Given the description of an element on the screen output the (x, y) to click on. 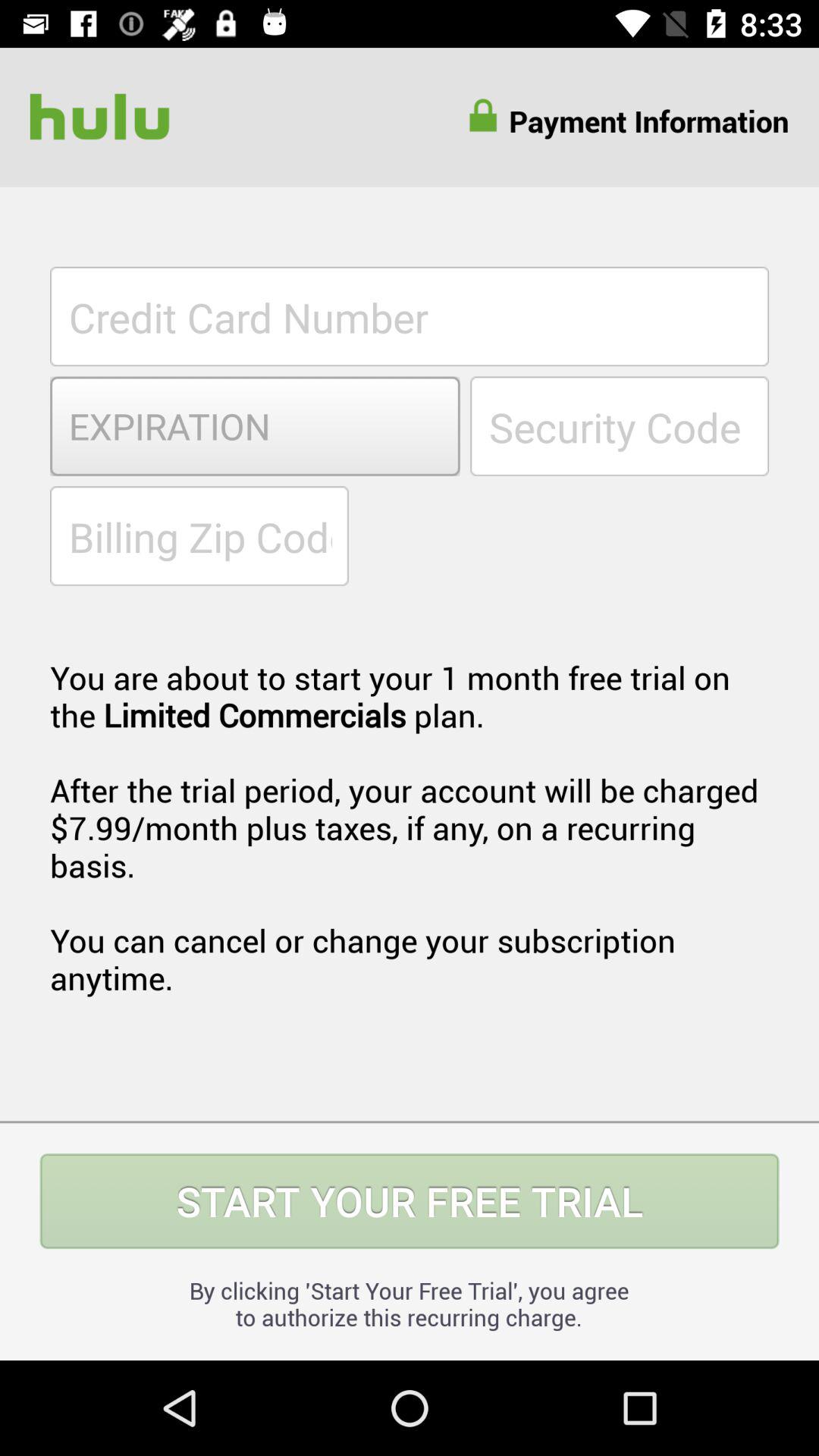
enter zip code (199, 535)
